Given the description of an element on the screen output the (x, y) to click on. 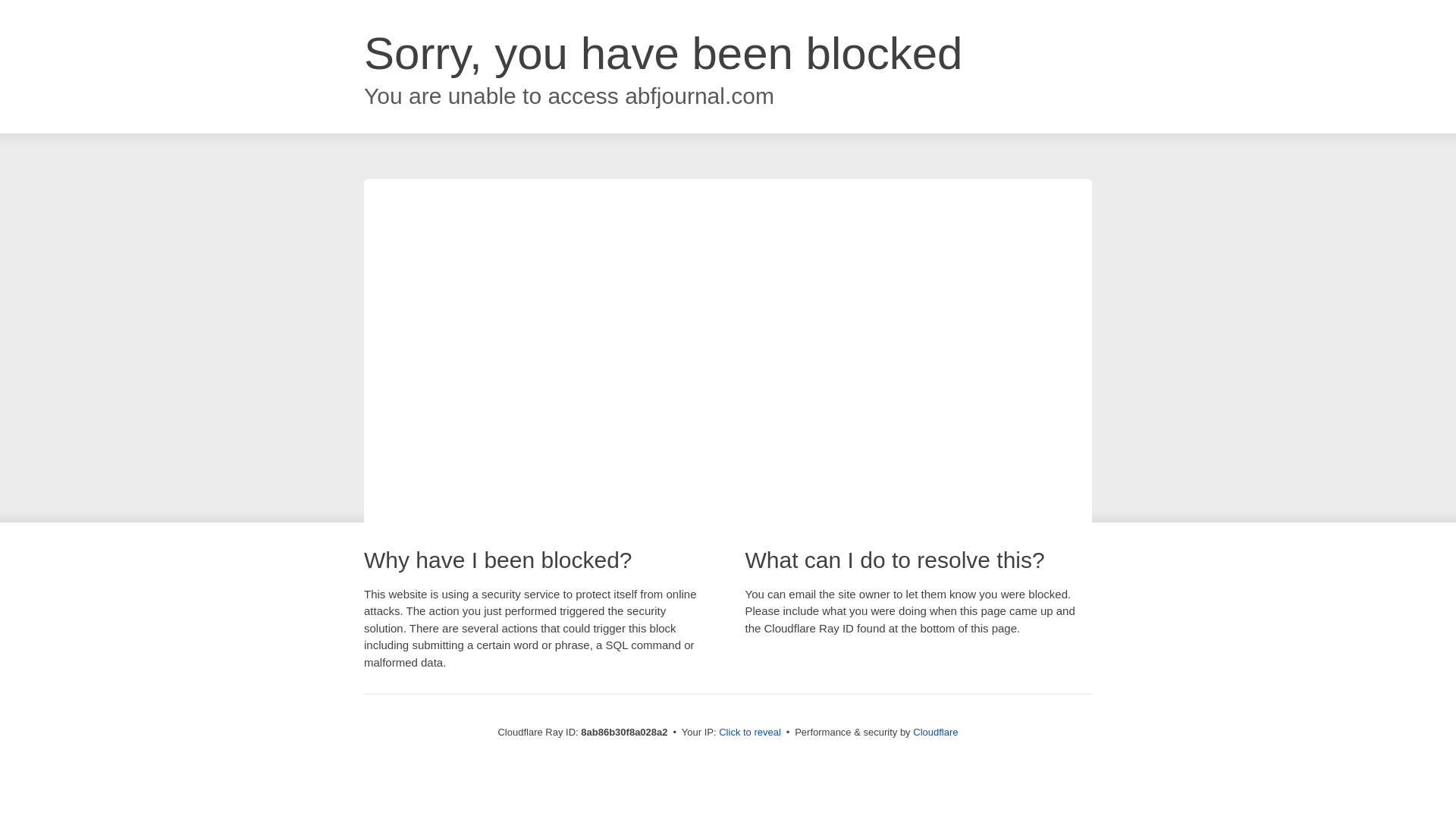
Click to reveal (749, 732)
Cloudflare (935, 731)
